Given the description of an element on the screen output the (x, y) to click on. 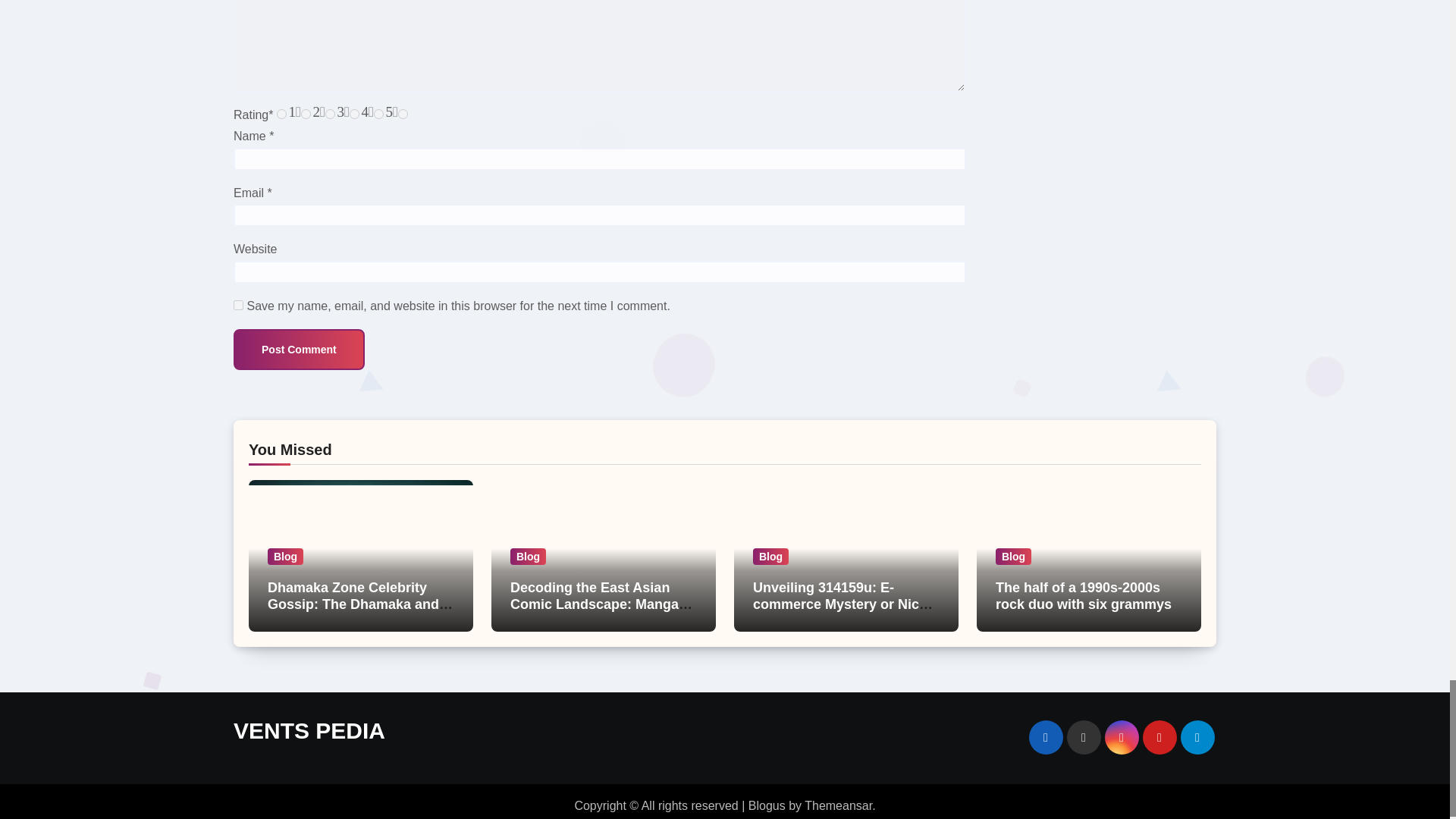
Post Comment (298, 349)
5 (402, 113)
0 (281, 113)
yes (237, 305)
1 (306, 113)
2 (329, 113)
4 (379, 113)
3 (354, 113)
